Given the description of an element on the screen output the (x, y) to click on. 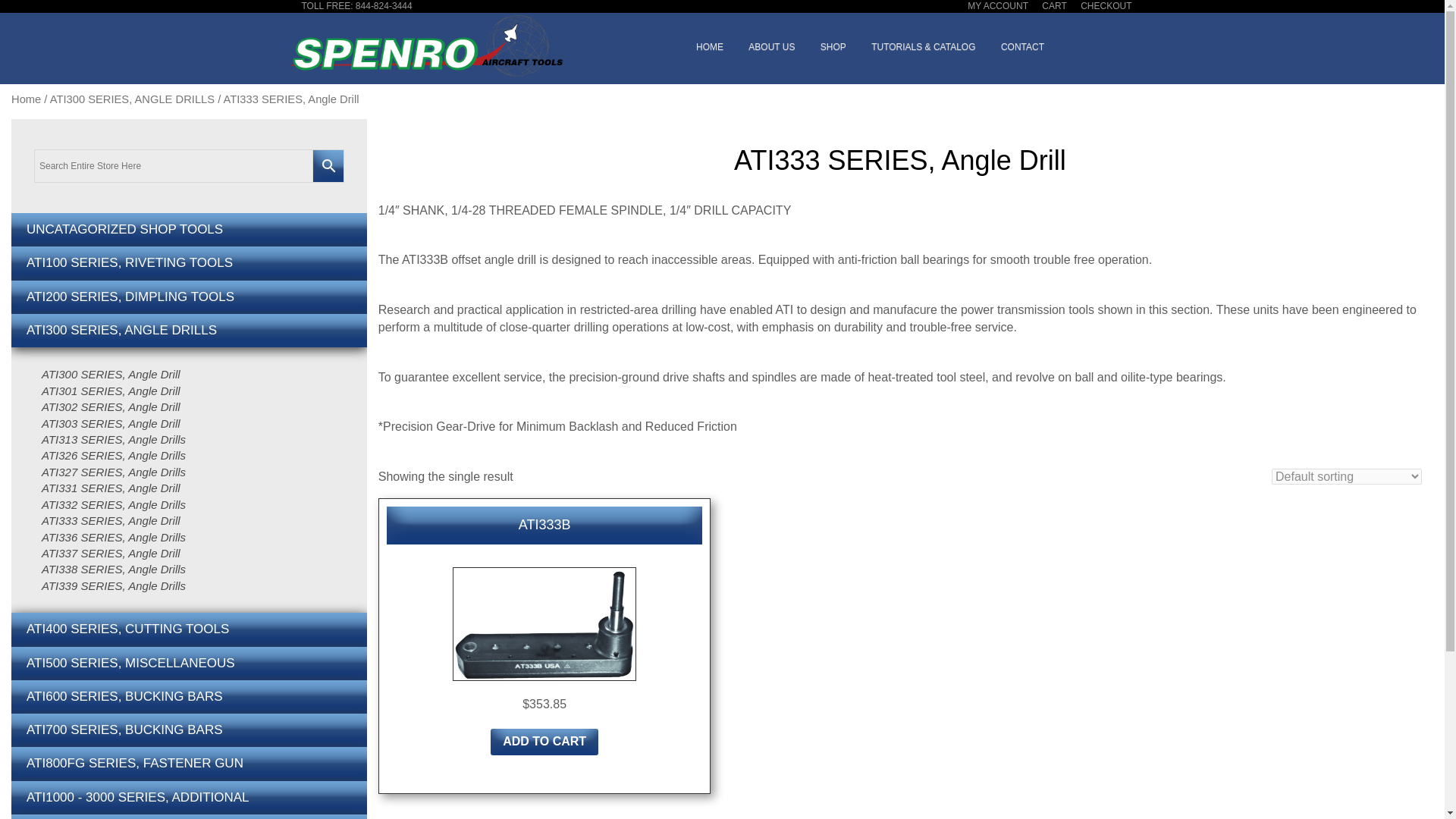
ATI338 SERIES, Angle Drills (114, 569)
SHOP (833, 46)
ATI300 SERIES, Angle Drill (114, 374)
ATI313 SERIES, Angle Drills (114, 439)
CHECKOUT (1111, 5)
ATI303 SERIES, Angle Drill (114, 423)
ATI300 SERIES, ANGLE DRILLS (188, 330)
ATIATC - ATIU SERIES, ADDITIONAL (188, 816)
ADD TO CART (544, 741)
ATI700 SERIES, BUCKING BARS (188, 729)
HOME (709, 46)
ATI333 SERIES, Angle Drill (114, 520)
ATI333B (545, 525)
CONTACT (1022, 46)
at333b.jpg (544, 623)
